Given the description of an element on the screen output the (x, y) to click on. 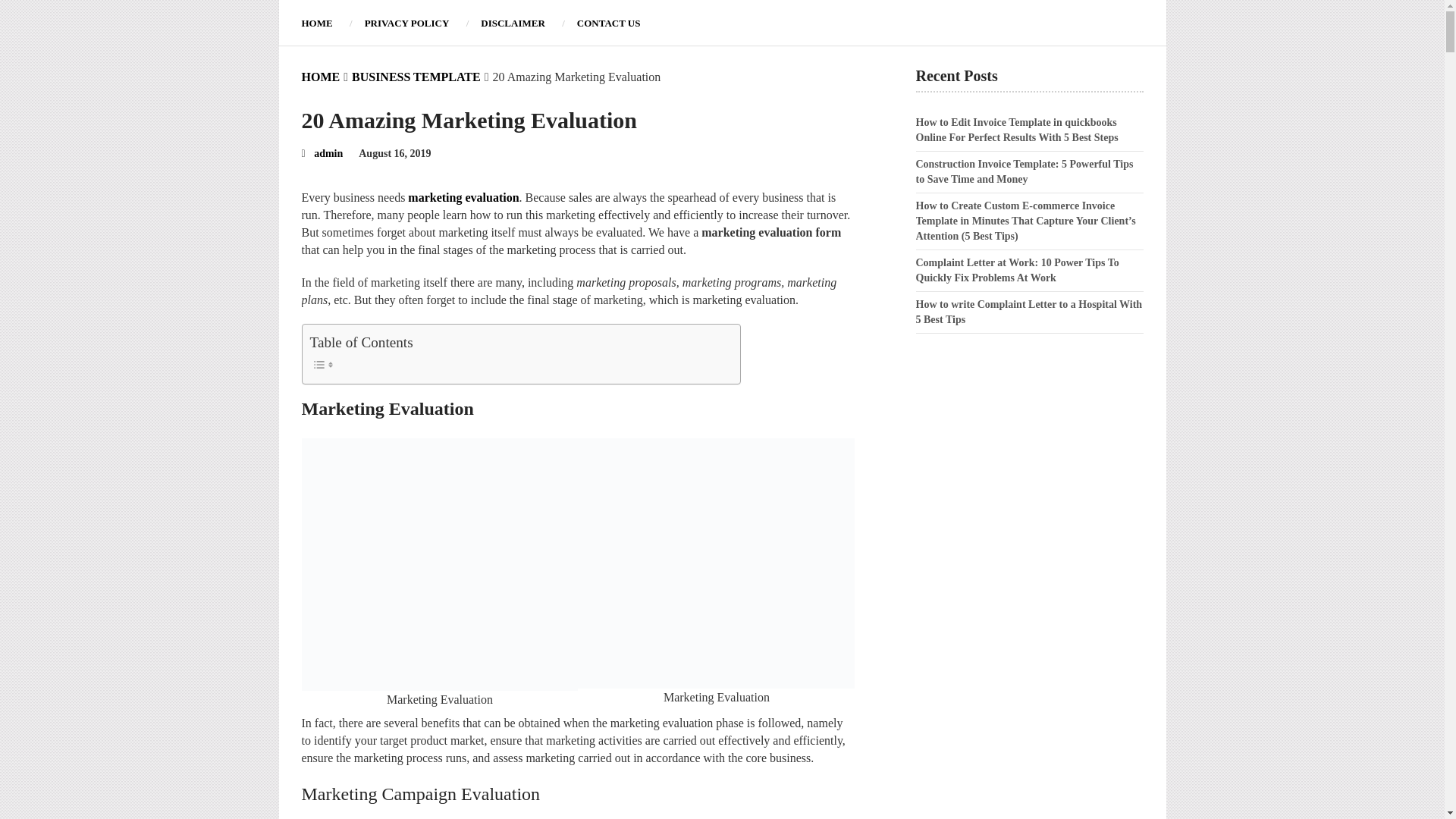
HOME (325, 22)
PRIVACY POLICY (407, 22)
CONTACT US (608, 22)
admin (328, 153)
Posts by admin (328, 153)
BUSINESS TEMPLATE (416, 76)
marketing evaluation (462, 196)
DISCLAIMER (512, 22)
HOME (320, 76)
